Given the description of an element on the screen output the (x, y) to click on. 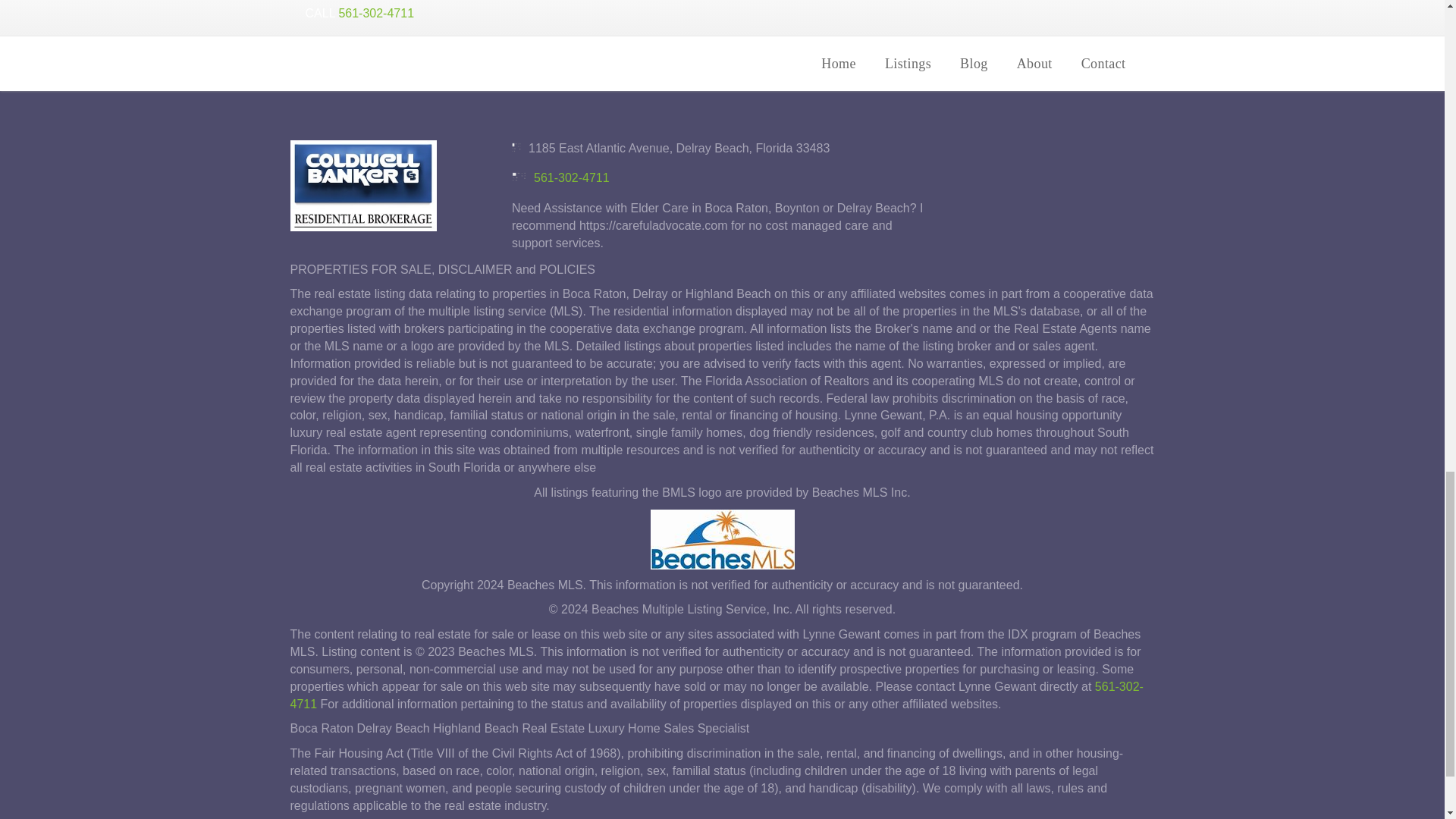
561-302-4711 (715, 695)
561-302-4711 (572, 177)
